Given the description of an element on the screen output the (x, y) to click on. 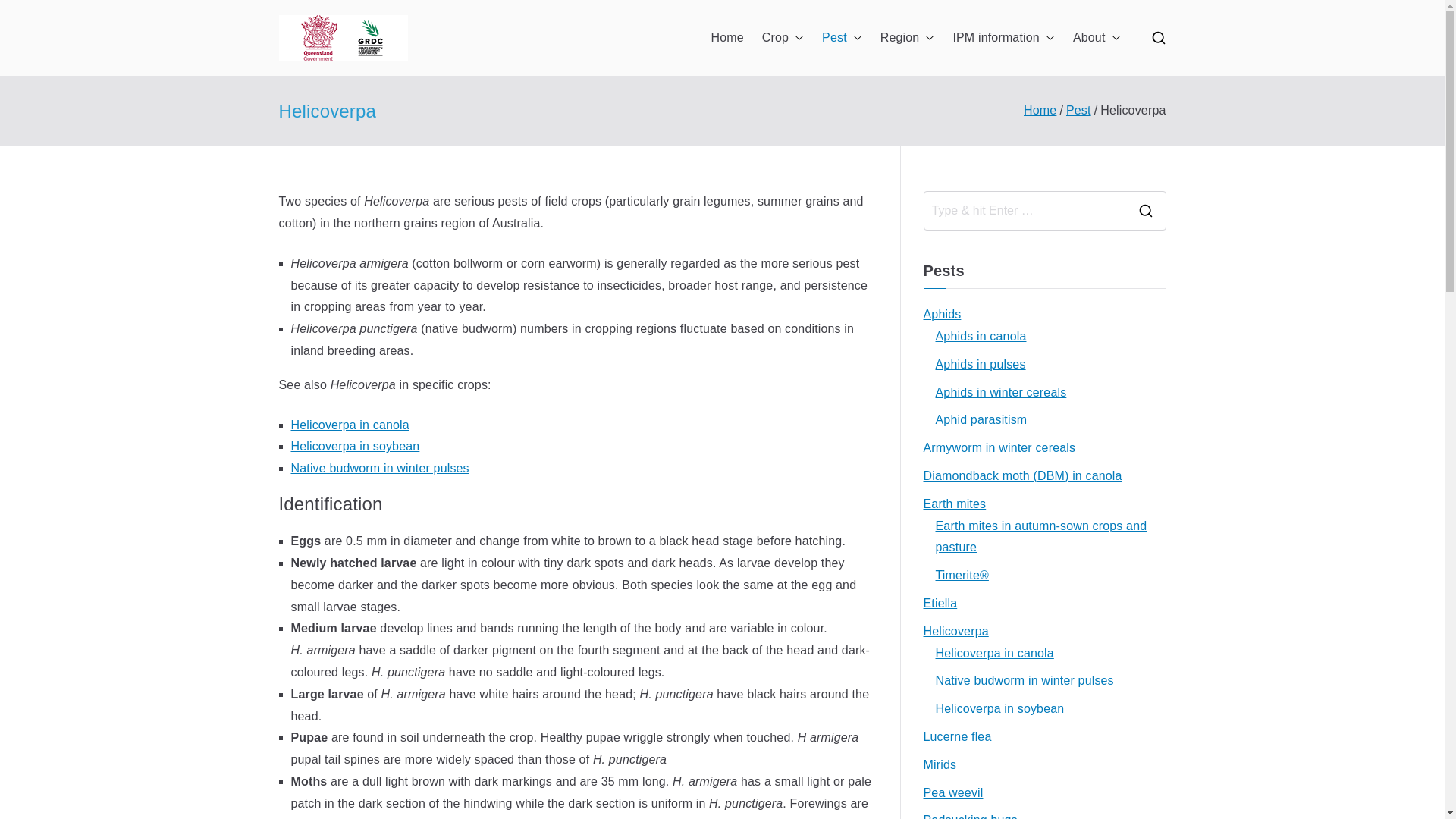
Pest (841, 38)
Crop (782, 38)
Home (726, 38)
Region (907, 38)
IPM Guidelines For Grains (514, 48)
Search for: (1024, 210)
Helicoverpa in soybean (355, 445)
